Given the description of an element on the screen output the (x, y) to click on. 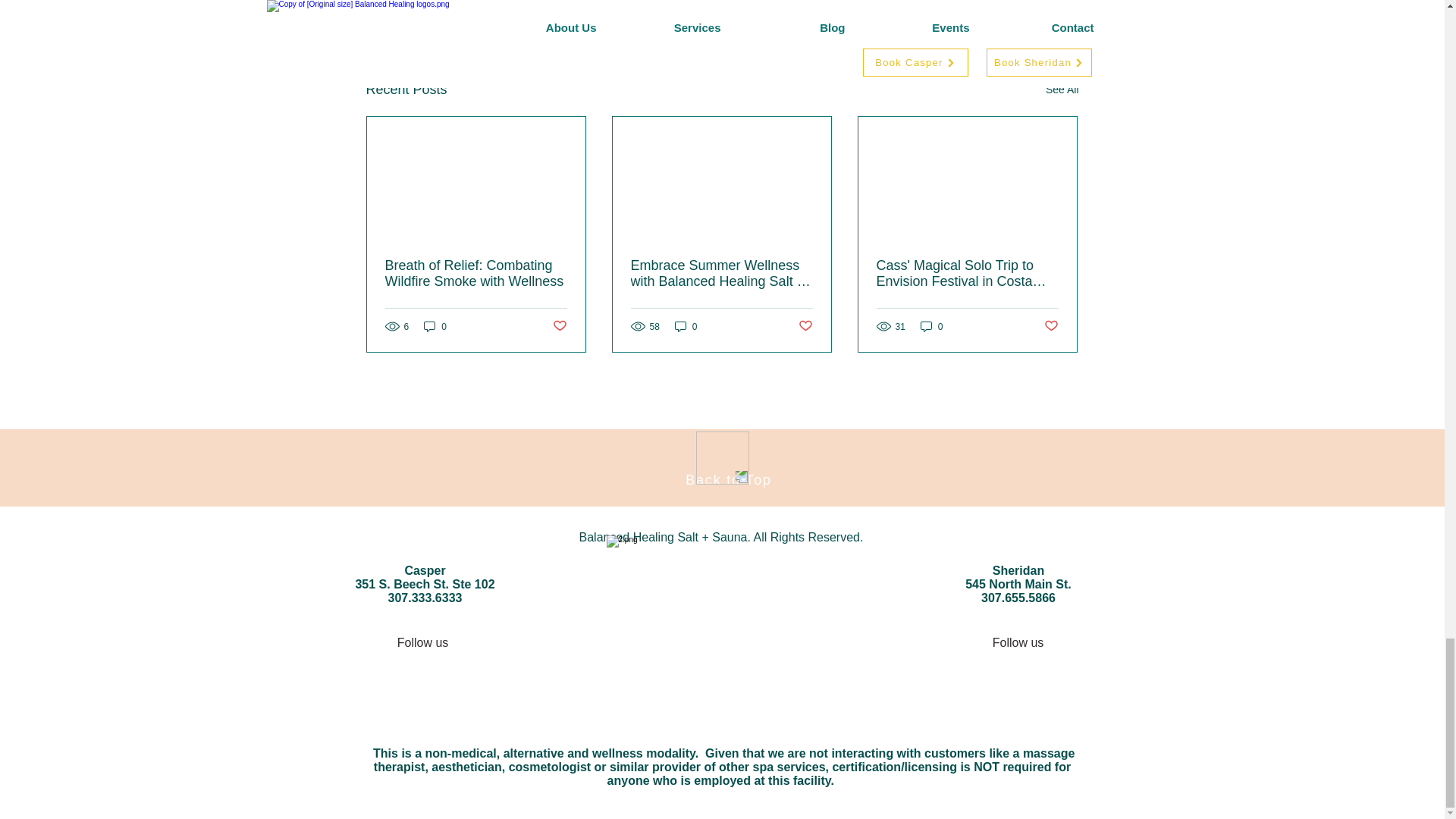
Breath of Relief: Combating Wildfire Smoke with Wellness (476, 273)
See All (1061, 89)
Post not marked as liked (558, 326)
0 (435, 326)
Post not marked as liked (995, 7)
